Given the description of an element on the screen output the (x, y) to click on. 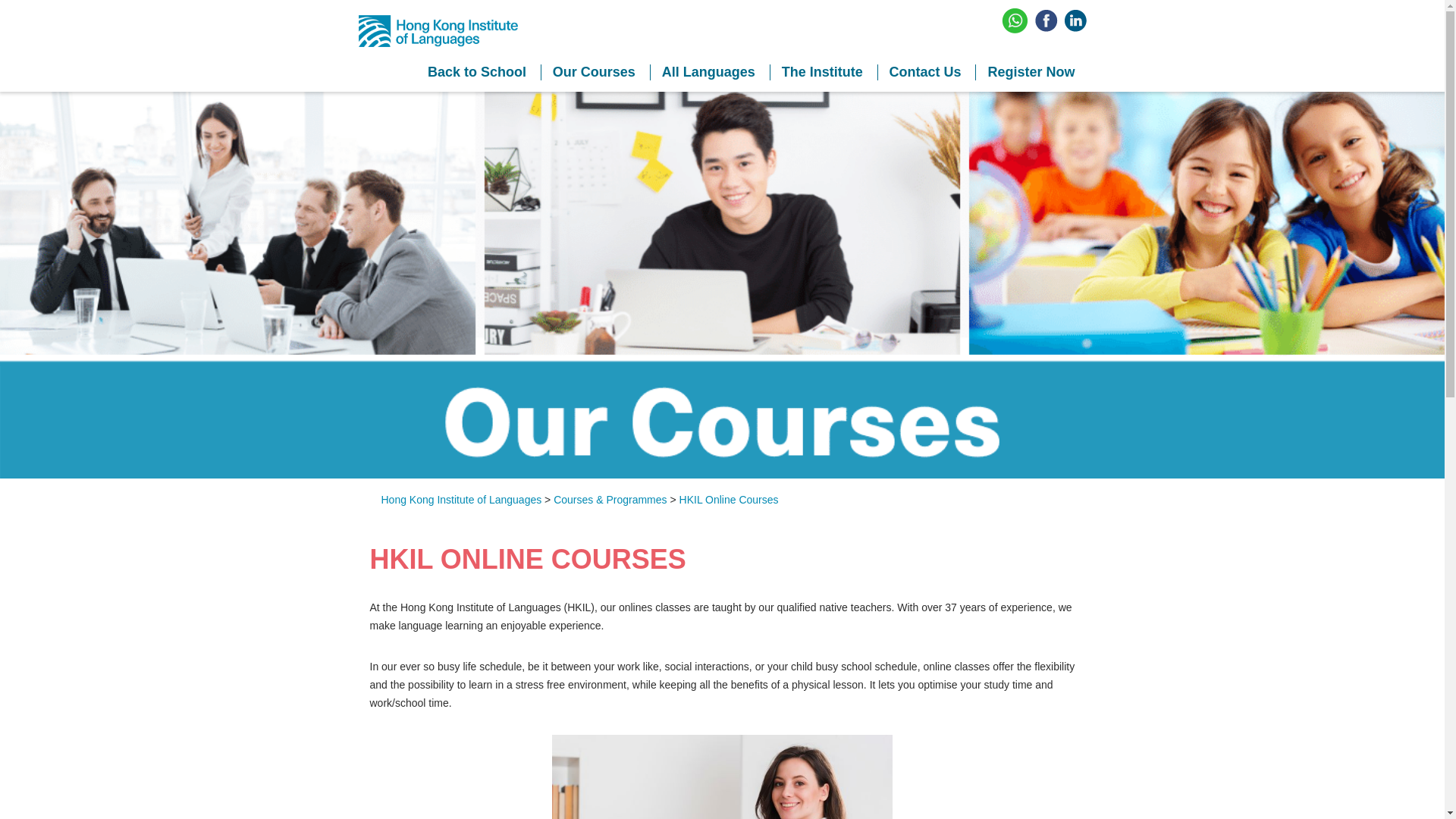
Contact Us (925, 72)
Our Courses (593, 72)
The Institute (821, 72)
Back to School (476, 72)
Register Now (1031, 72)
Hong Kong Institute of Languages (460, 499)
All Languages (708, 72)
